Given the description of an element on the screen output the (x, y) to click on. 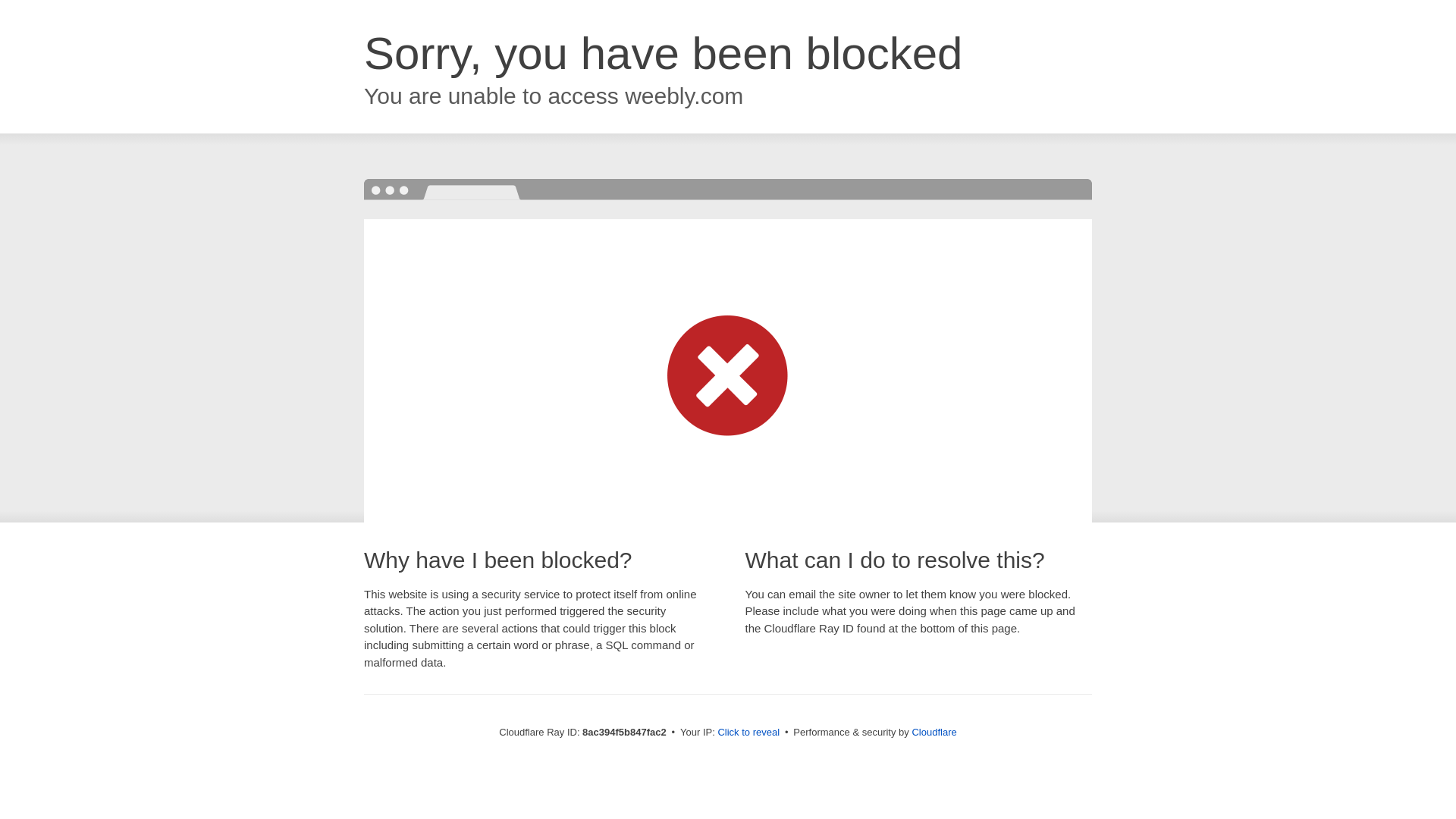
Click to reveal (747, 732)
Cloudflare (933, 731)
